Given the description of an element on the screen output the (x, y) to click on. 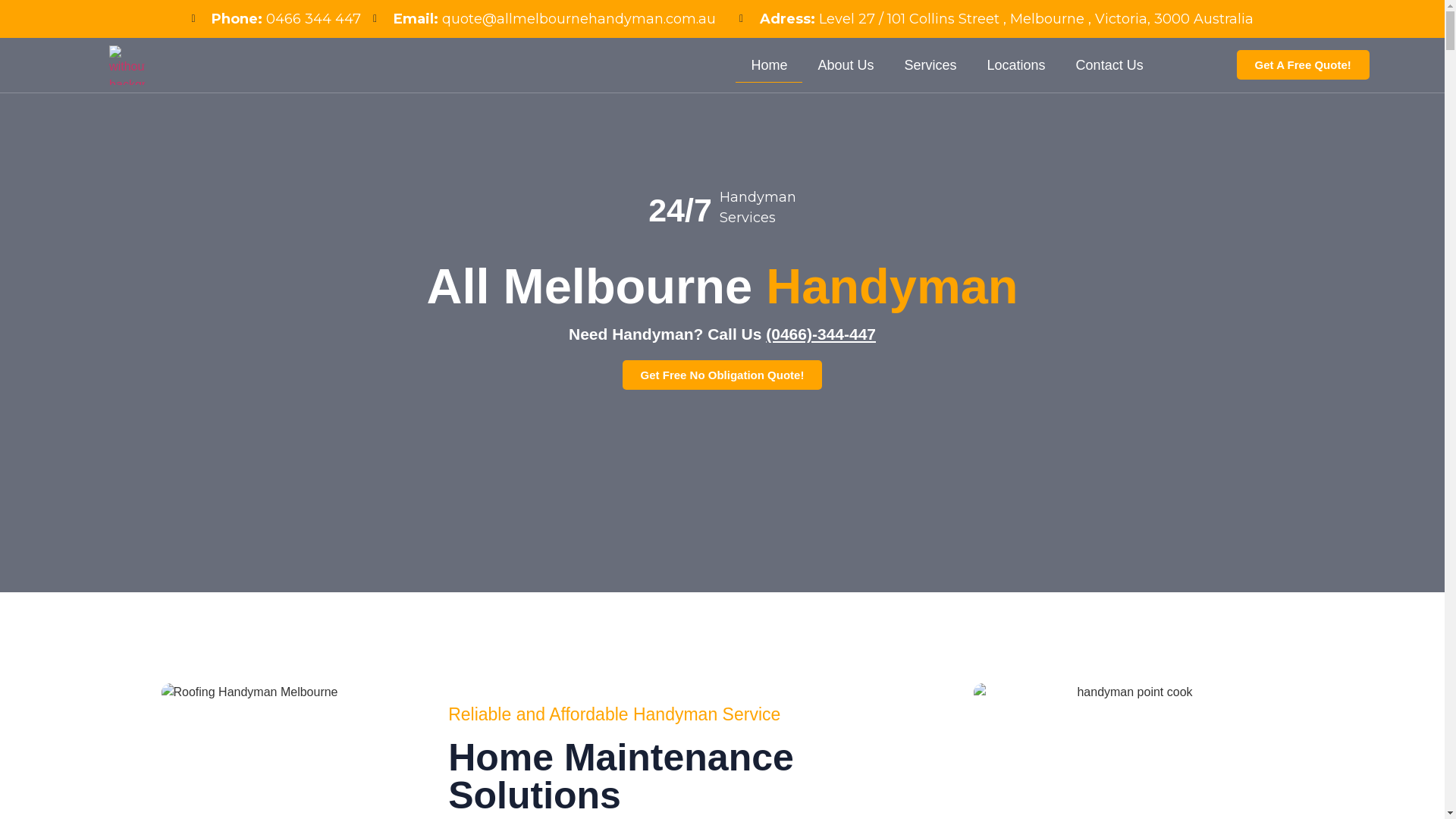
Locations Element type: text (1016, 64)
Services Element type: text (930, 64)
Phone: 0466 344 447 Element type: text (275, 19)
Home Element type: text (768, 64)
About Us Element type: text (845, 64)
Contact Us Element type: text (1109, 64)
(0466)-344-447 Element type: text (820, 333)
Get Free No Obligation Quote! Element type: text (722, 374)
Email: quote@allmelbournehandyman.com.au Element type: text (544, 19)
Get A Free Quote! Element type: text (1302, 64)
